Given the description of an element on the screen output the (x, y) to click on. 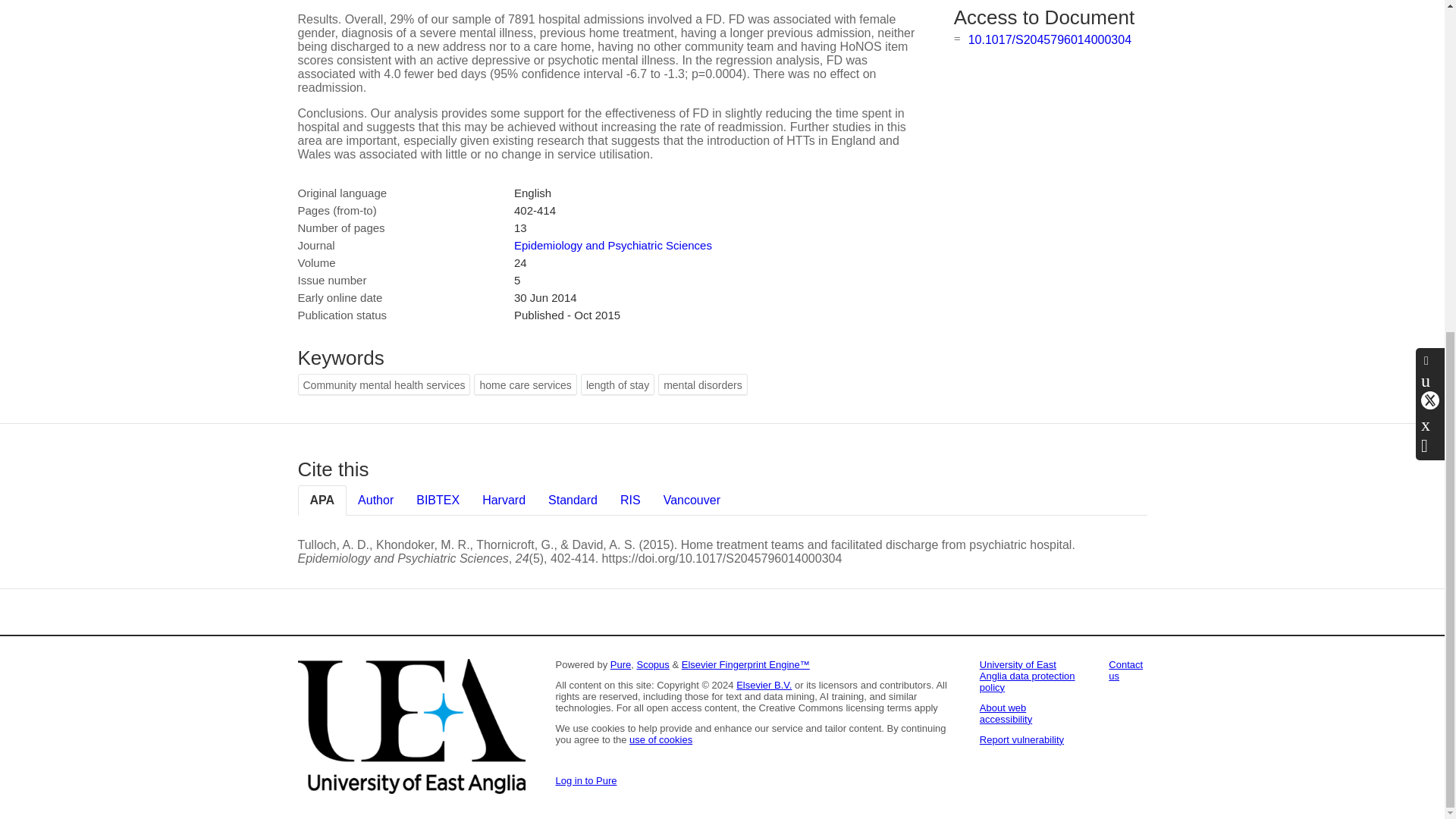
Epidemiology and Psychiatric Sciences (612, 245)
Log in to Pure (584, 780)
use of cookies (660, 739)
Report vulnerability (1021, 739)
About web accessibility (1005, 712)
Pure (620, 664)
University of East Anglia data protection policy (1027, 675)
Elsevier B.V. (764, 685)
Scopus (652, 664)
